Given the description of an element on the screen output the (x, y) to click on. 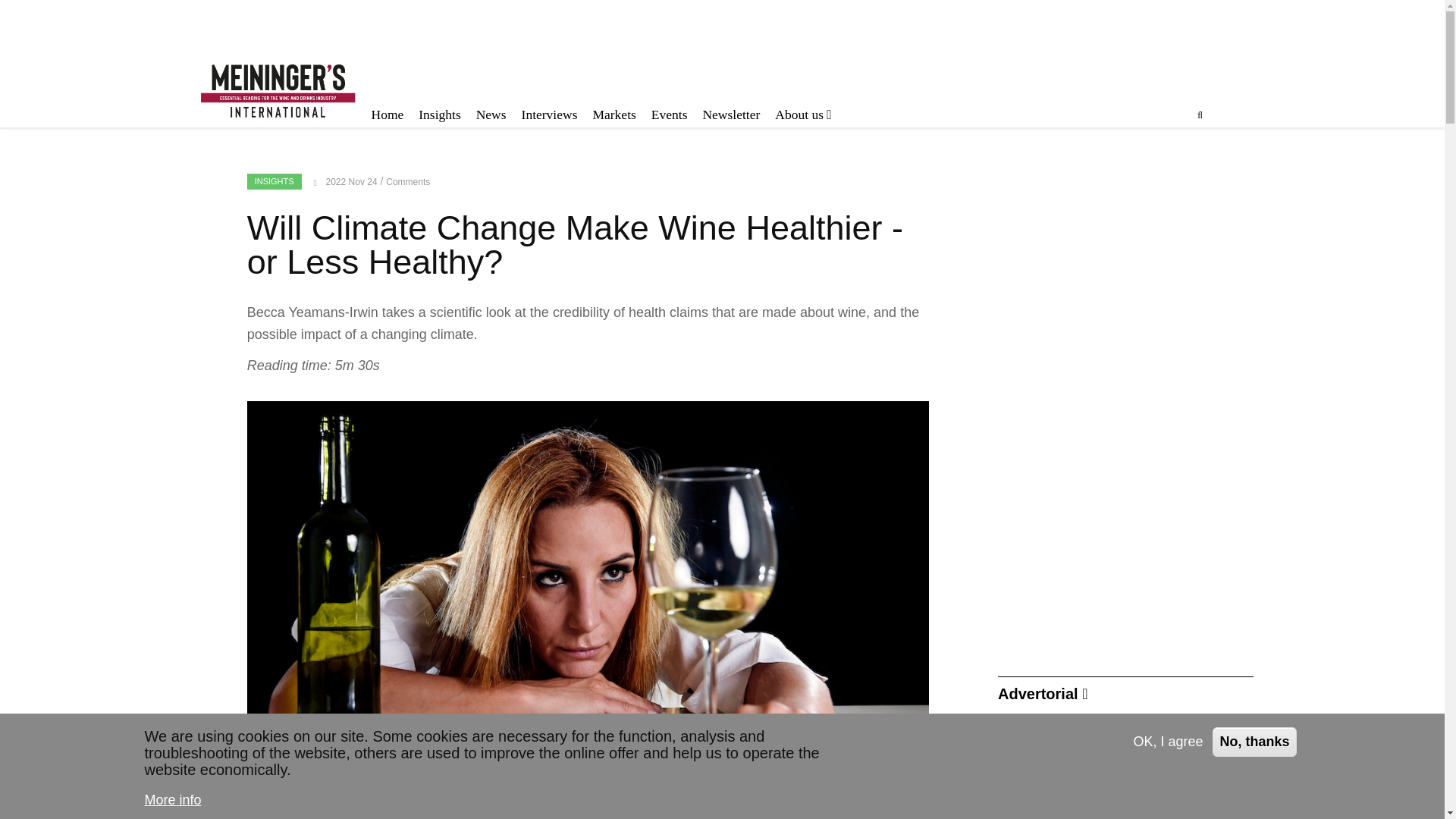
Home (388, 115)
Events (669, 115)
Interviews (549, 115)
News (490, 115)
About us (802, 115)
Newsletter (730, 115)
INSIGHTS (274, 181)
Insights (438, 115)
Markets (614, 115)
Search (1131, 176)
